Given the description of an element on the screen output the (x, y) to click on. 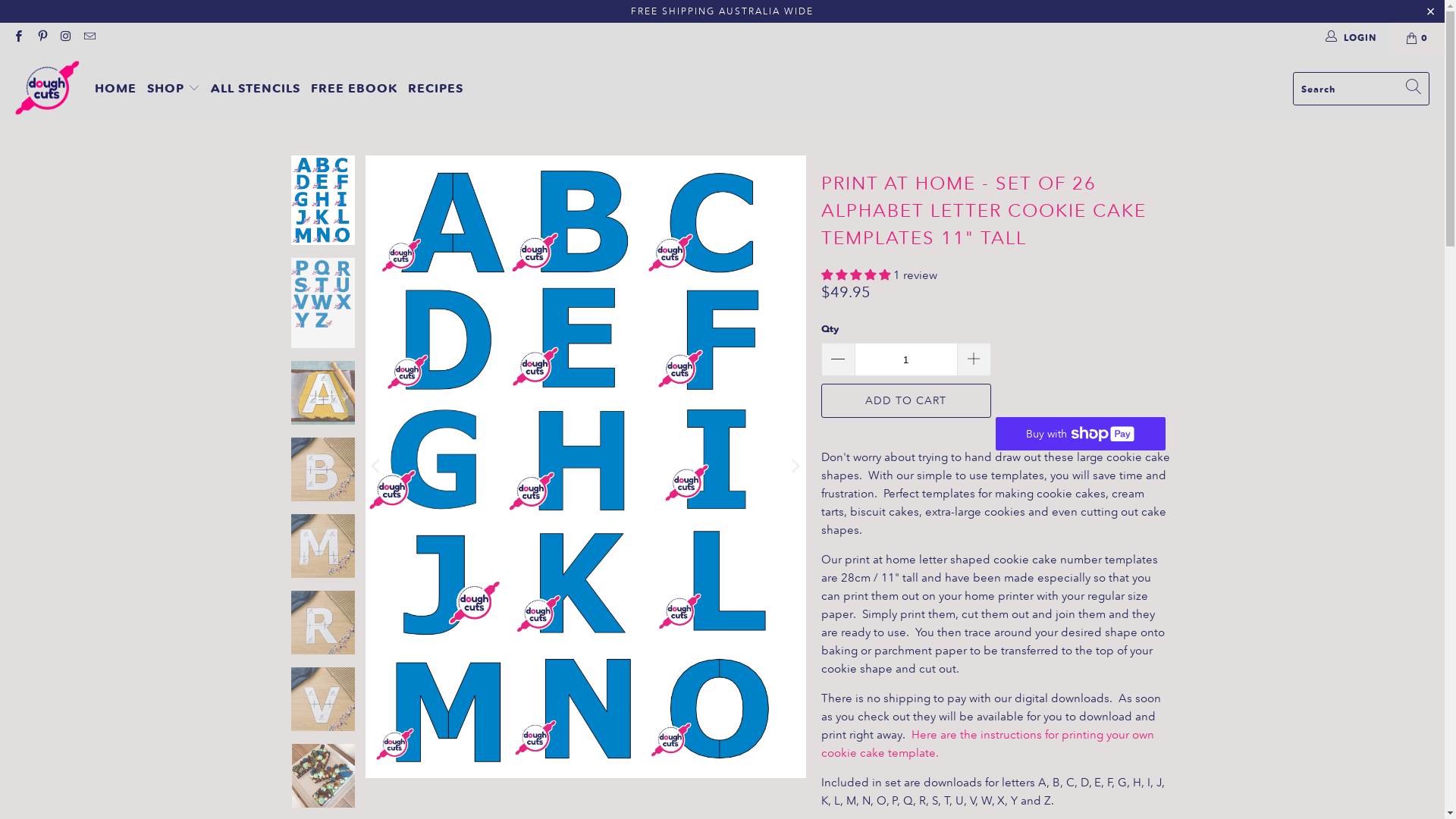
Email DoughCuts Element type: hover (88, 37)
ALL STENCILS Element type: text (255, 88)
RECIPES Element type: text (435, 88)
SHOP Element type: text (173, 88)
More payment options Element type: text (1080, 429)
FREE EBOOK Element type: text (353, 88)
0 Element type: text (1417, 37)
HOME Element type: text (115, 88)
DoughCuts on Facebook Element type: hover (17, 37)
DoughCuts on Pinterest Element type: hover (40, 37)
DoughCuts Element type: hover (47, 88)
DoughCuts on Instagram Element type: hover (65, 37)
LOGIN Element type: text (1352, 37)
ADD TO CART Element type: text (905, 400)
